Given the description of an element on the screen output the (x, y) to click on. 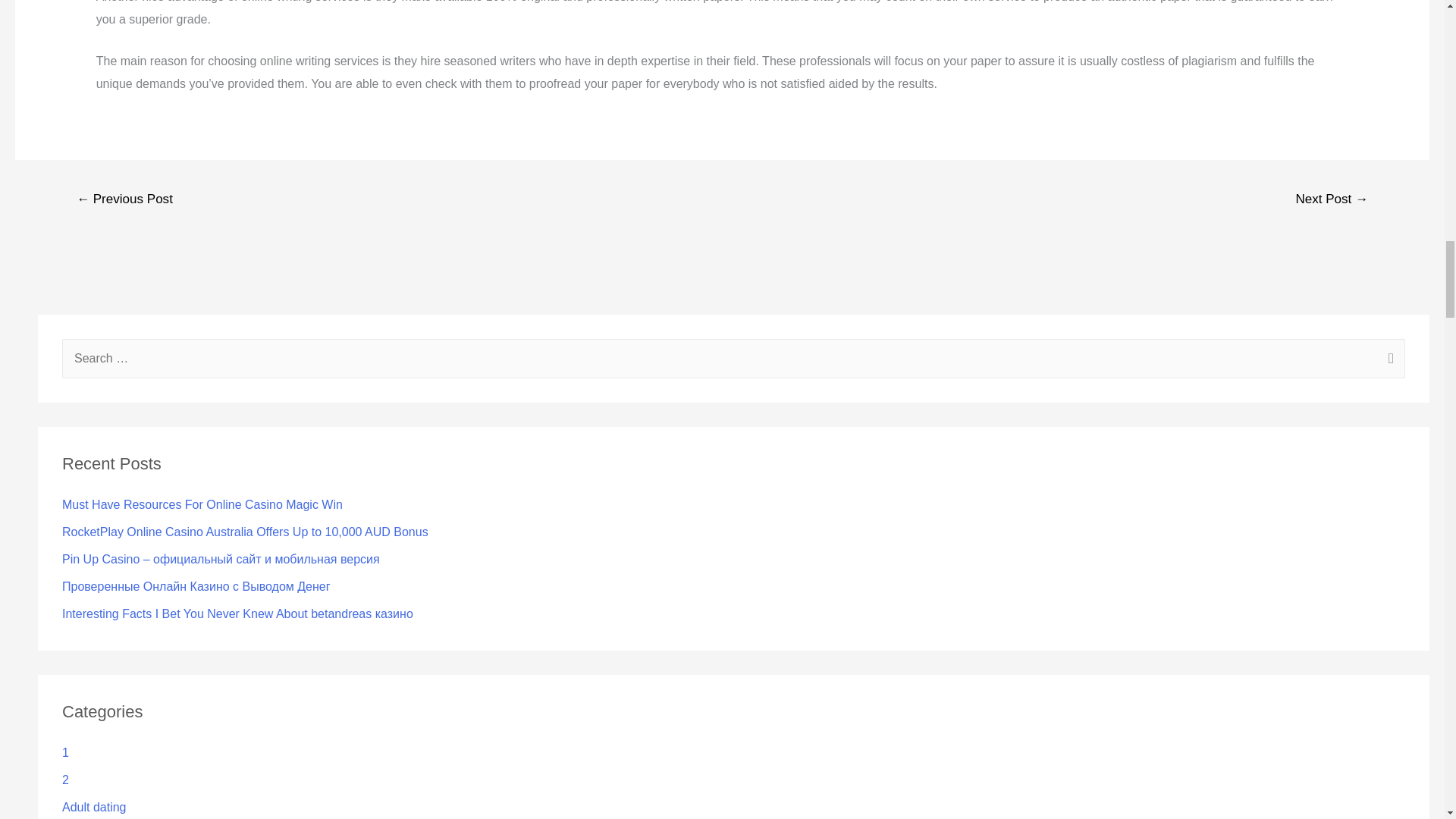
Adult dating (94, 807)
Must Have Resources For Online Casino Magic Win (202, 504)
